Given the description of an element on the screen output the (x, y) to click on. 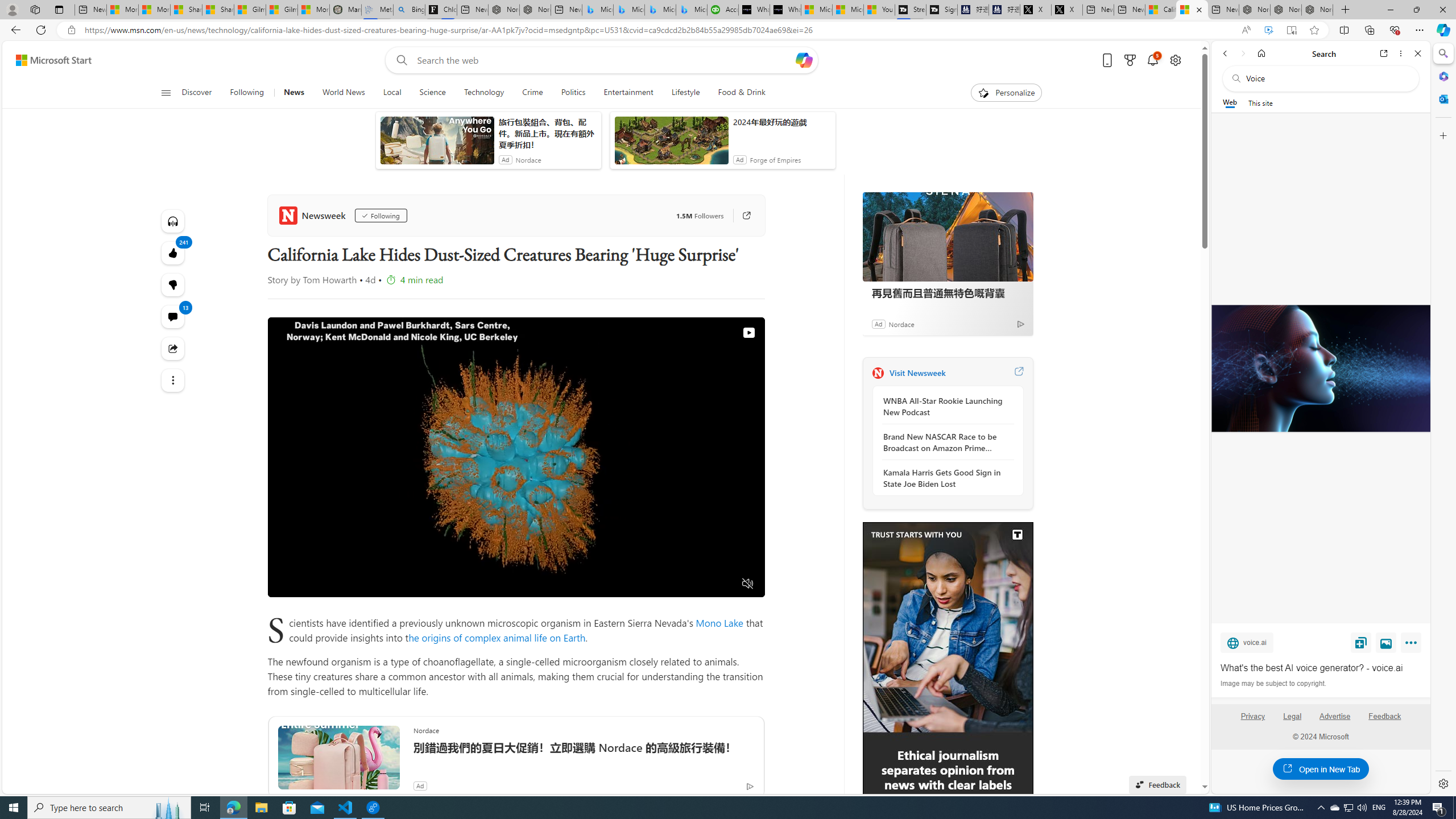
Save (1361, 642)
Visit Newsweek website (1018, 372)
Close tab (1198, 9)
Dislike (172, 284)
See more (172, 380)
Forge of Empires (774, 159)
Science (432, 92)
App bar (728, 29)
Skip to footer (46, 59)
Legal (1292, 720)
Collections (1369, 29)
Copilot (Ctrl+Shift+.) (1442, 29)
Pause (285, 583)
WNBA All-Star Rookie Launching New Podcast (944, 406)
More (1413, 644)
